Given the description of an element on the screen output the (x, y) to click on. 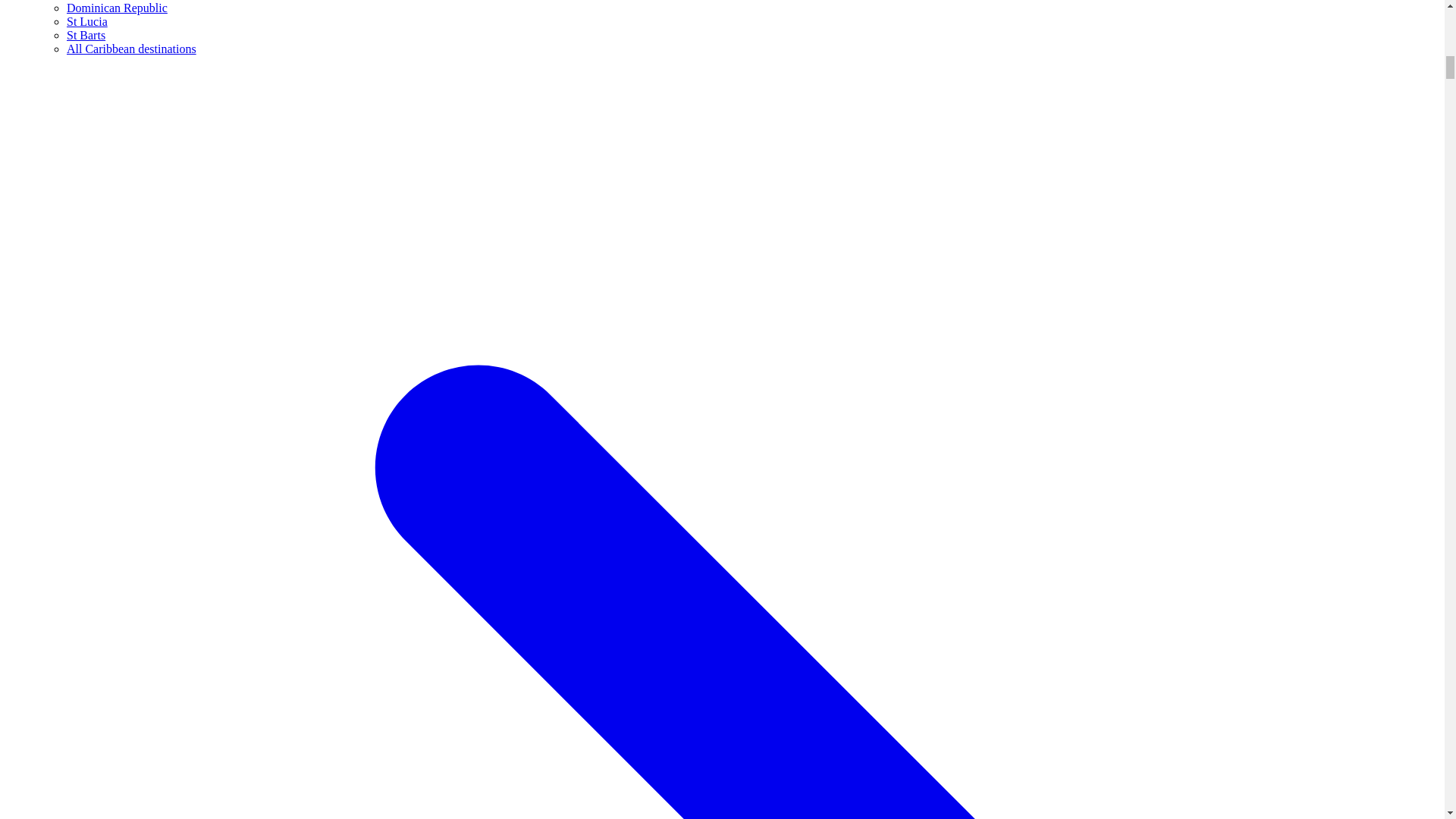
St Lucia (86, 21)
Dominican Republic (116, 7)
St Barts (85, 34)
